Given the description of an element on the screen output the (x, y) to click on. 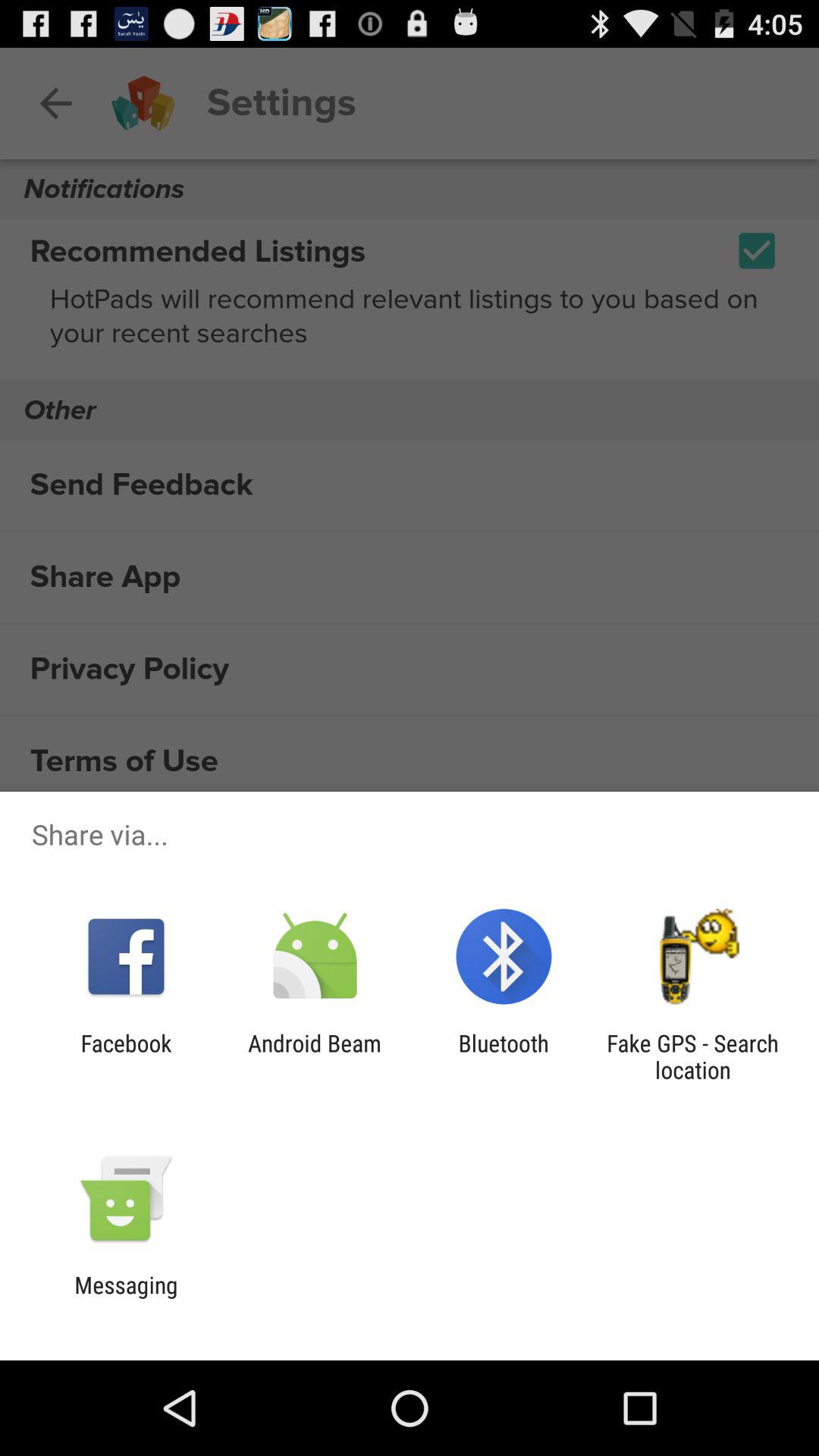
click facebook item (125, 1056)
